Given the description of an element on the screen output the (x, y) to click on. 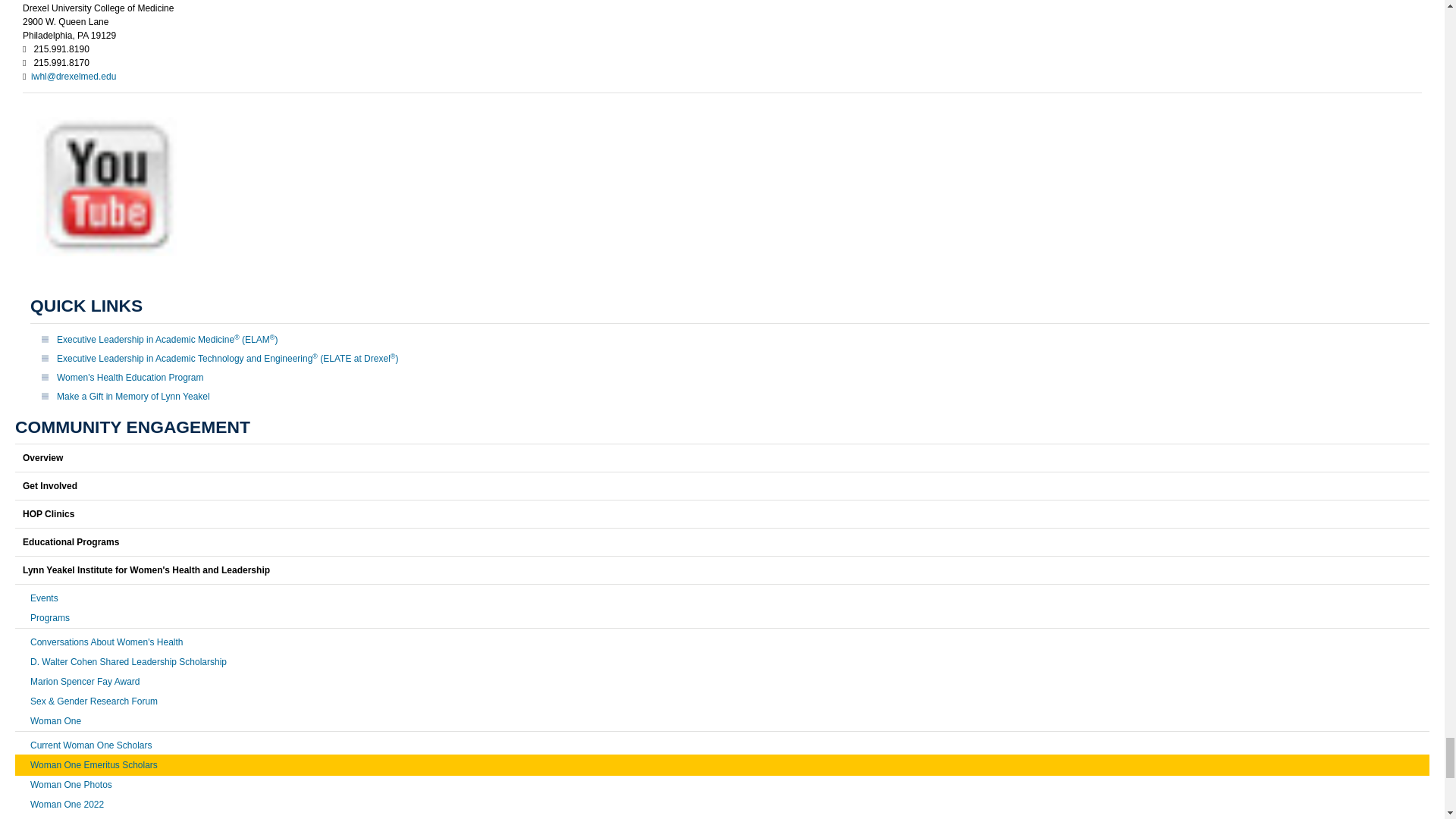
Visit IWHL on YouTube. (106, 267)
Learn More: Women's Health Education Program (129, 377)
